Given the description of an element on the screen output the (x, y) to click on. 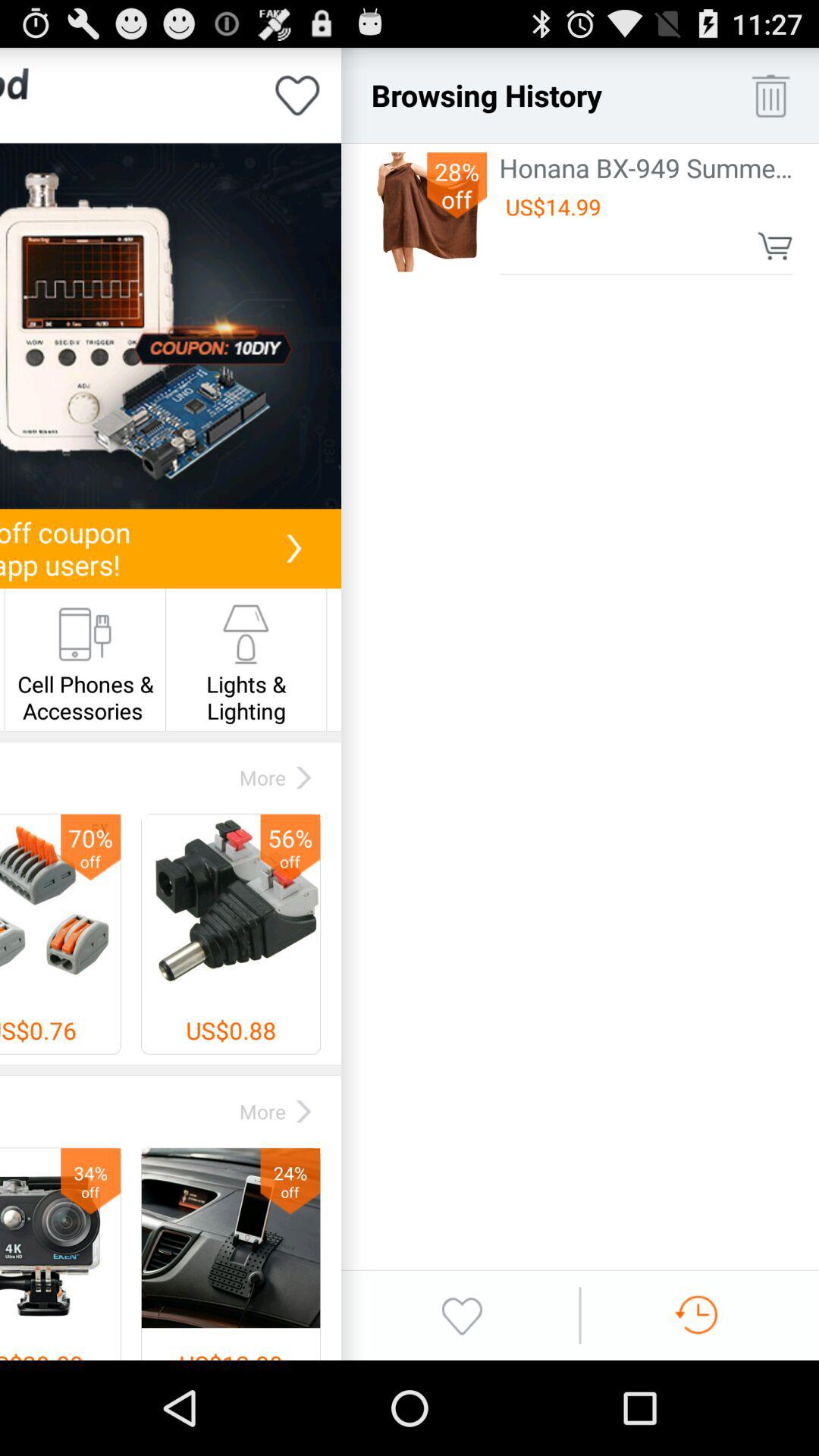
open app next to the honana bx 949 app (456, 185)
